Given the description of an element on the screen output the (x, y) to click on. 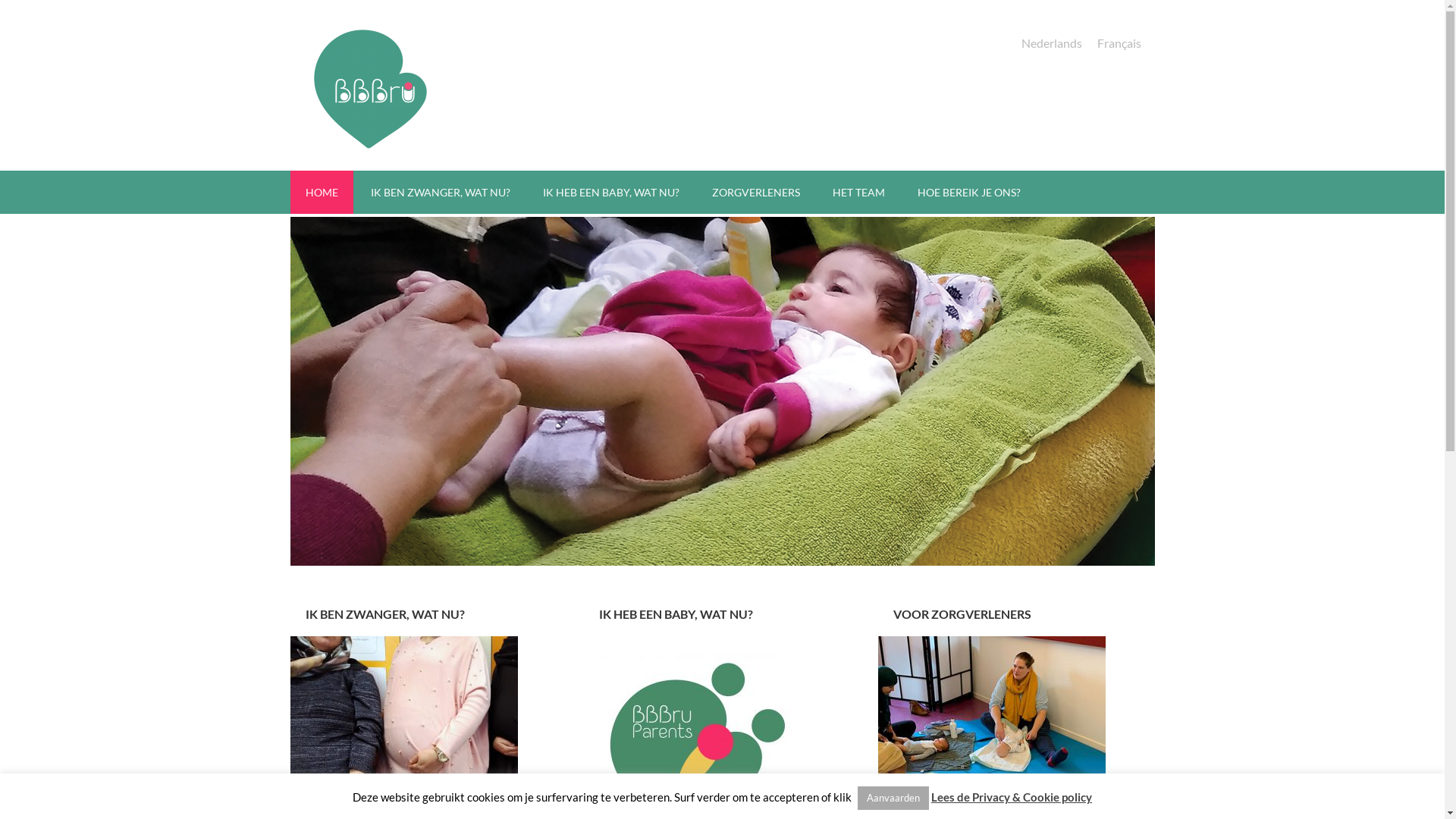
ZORGVERLENERS Element type: text (755, 191)
HOE BEREIK JE ONS? Element type: text (968, 191)
HOME Element type: text (320, 191)
IK HEB EEN BABY, WAT NU? Element type: text (610, 191)
Nederlands Element type: text (1050, 42)
Aanvaarden Element type: text (892, 797)
IK BEN ZWANGER, WAT NU? Element type: text (439, 191)
HET TEAM Element type: text (858, 191)
BBBRU Element type: text (365, 88)
Lees de Privacy & Cookie policy Element type: text (1011, 796)
